Given the description of an element on the screen output the (x, y) to click on. 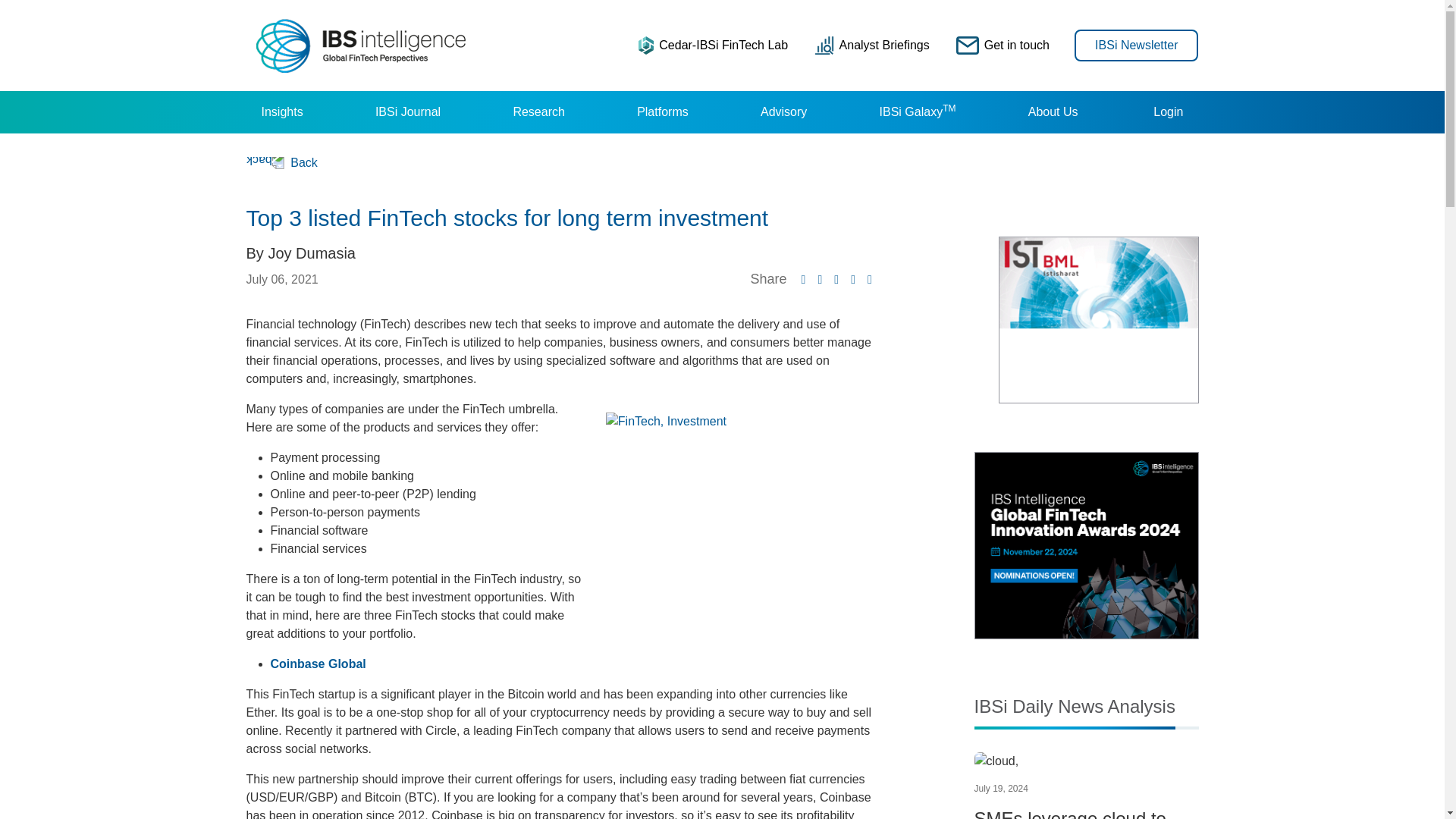
Research (538, 111)
IBSi Newsletter (1136, 44)
Analyst Briefings (871, 45)
IBSi Journal (407, 111)
Get in touch (1002, 45)
Insights (281, 111)
Cedar-IBSi FinTech Lab (712, 45)
